Given the description of an element on the screen output the (x, y) to click on. 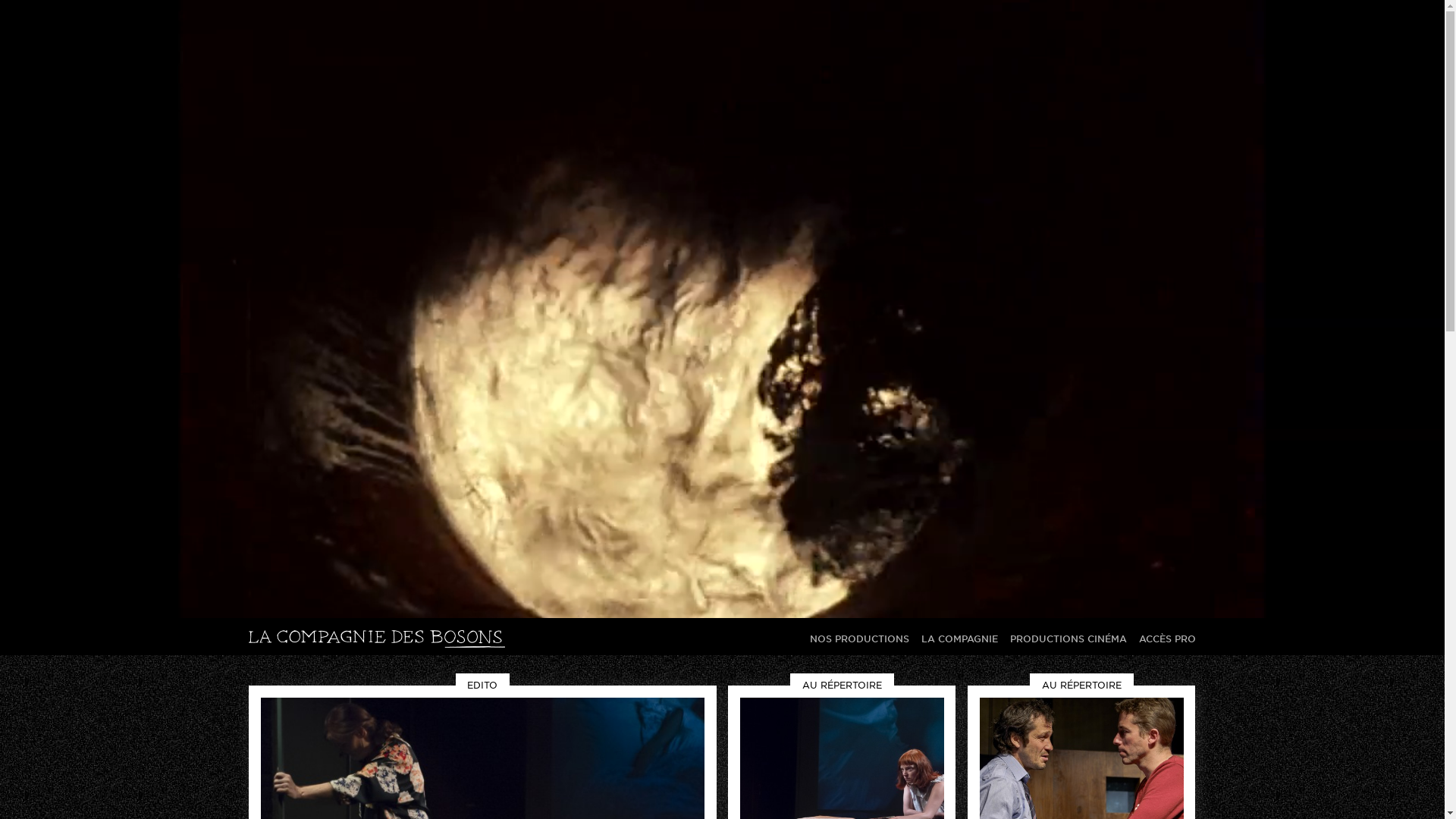
La Compagnie Des Bosons Element type: text (376, 639)
LA COMPAGNIE Element type: text (959, 638)
NOS PRODUCTIONS Element type: text (859, 638)
